Given the description of an element on the screen output the (x, y) to click on. 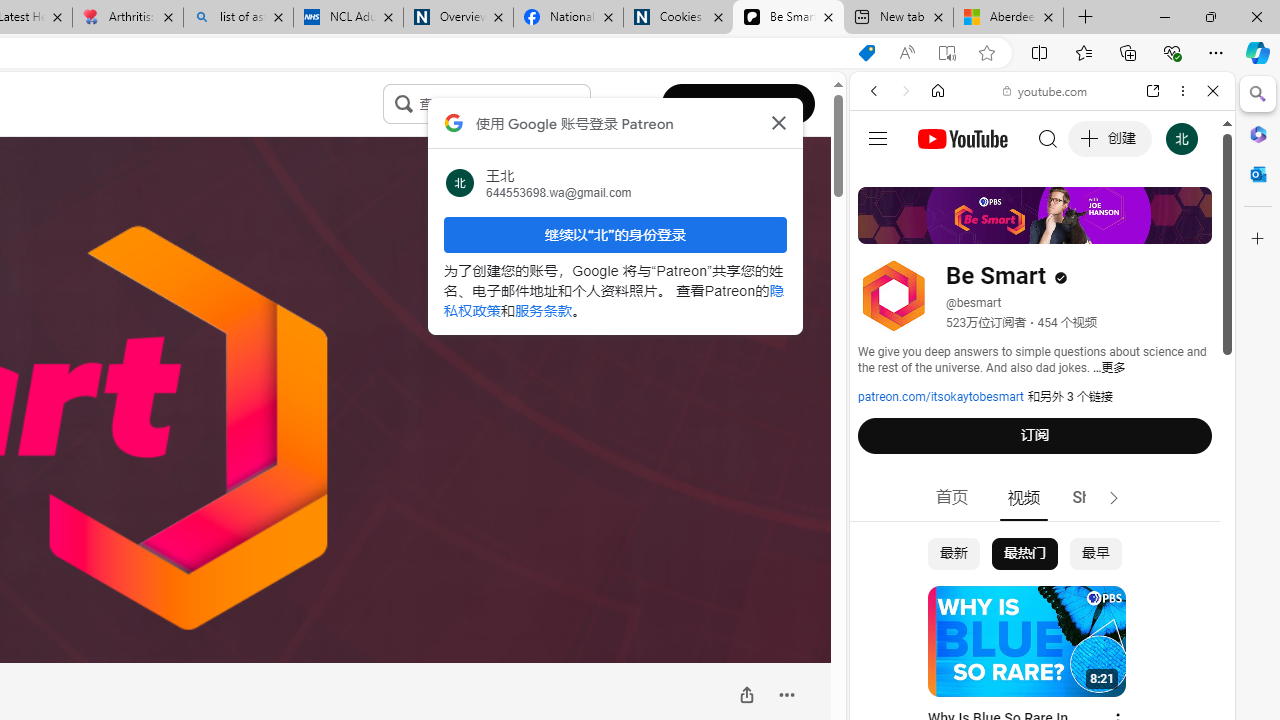
Aberdeen, Hong Kong SAR hourly forecast | Microsoft Weather (1008, 17)
youtube.com (1046, 90)
Search Filter, WEB (882, 228)
Cookies | About | NICE (678, 17)
Global web icon (888, 288)
Class: style-scope tp-yt-iron-icon (1114, 498)
